Given the description of an element on the screen output the (x, y) to click on. 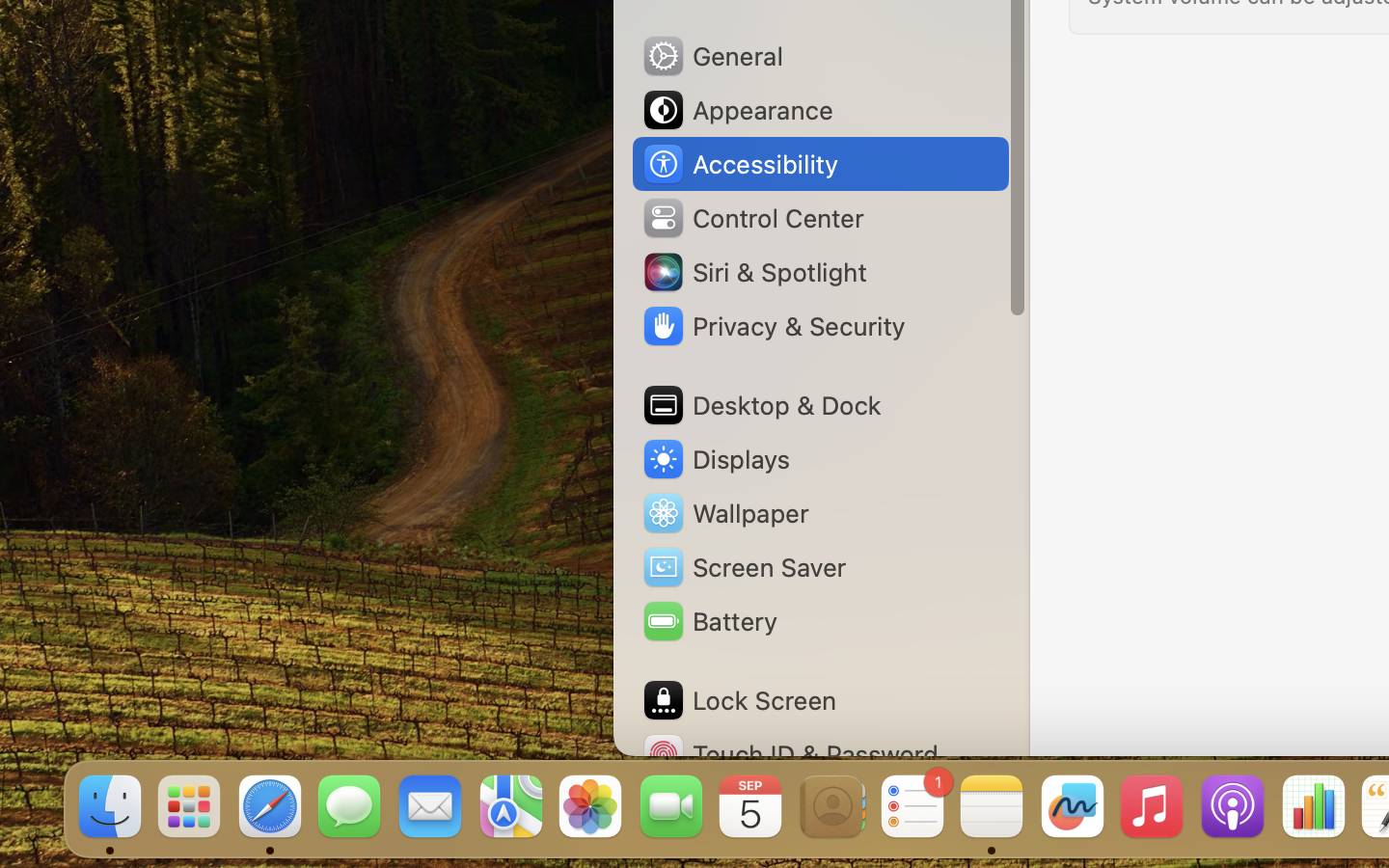
General Element type: AXStaticText (711, 55)
Touch ID & Password Element type: AXStaticText (789, 754)
Siri & Spotlight Element type: AXStaticText (753, 271)
